Given the description of an element on the screen output the (x, y) to click on. 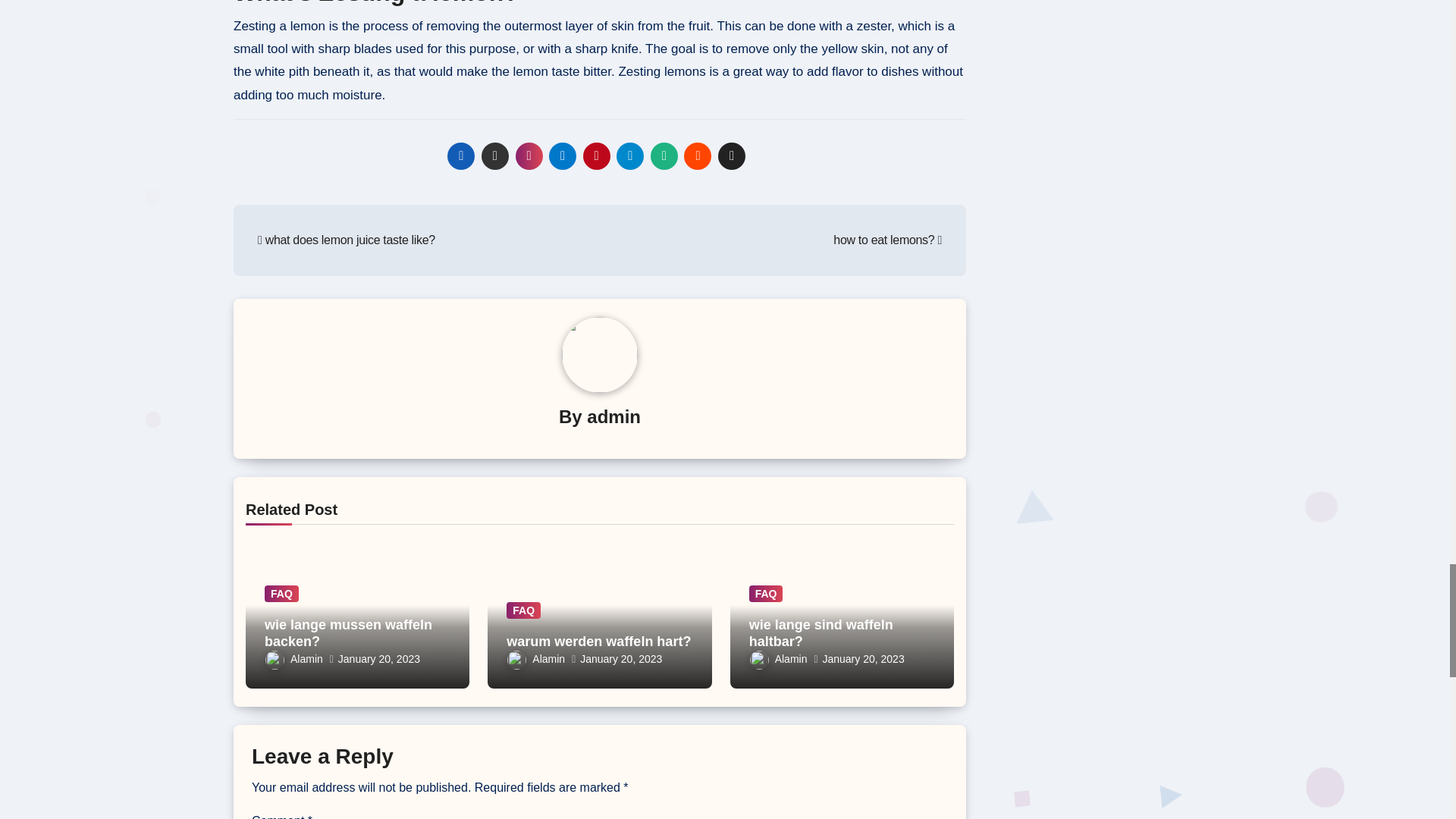
what does lemon juice taste like? (346, 239)
wie lange mussen waffeln backen? (348, 633)
FAQ (281, 593)
Permalink to: wie lange sind waffeln haltbar? (821, 633)
how to eat lemons? (887, 239)
Permalink to: warum werden waffeln hart? (598, 641)
Permalink to: wie lange mussen waffeln backen? (348, 633)
January 20, 2023 (378, 658)
Alamin (293, 658)
admin (613, 416)
